Given the description of an element on the screen output the (x, y) to click on. 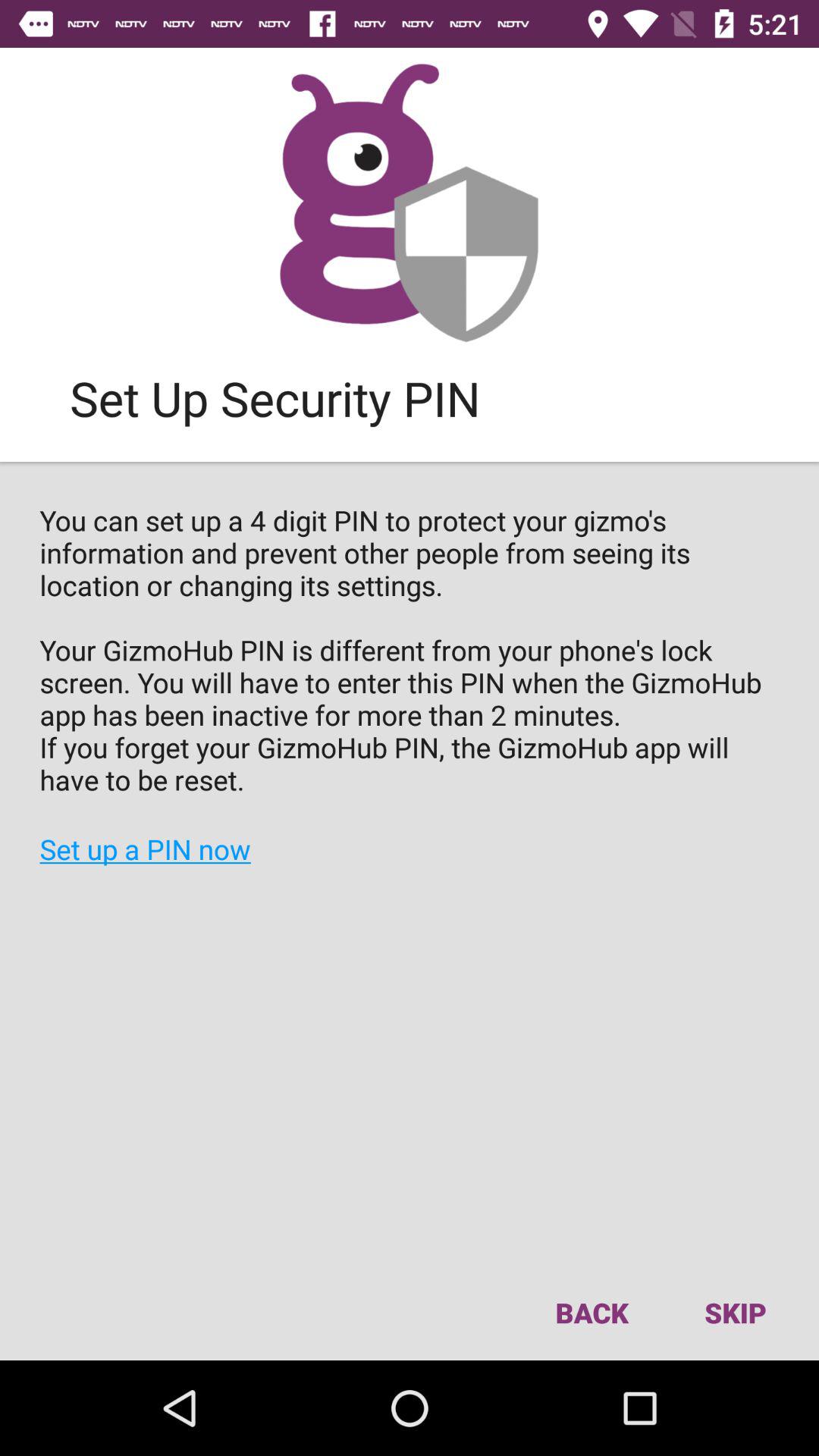
select back (591, 1312)
